Given the description of an element on the screen output the (x, y) to click on. 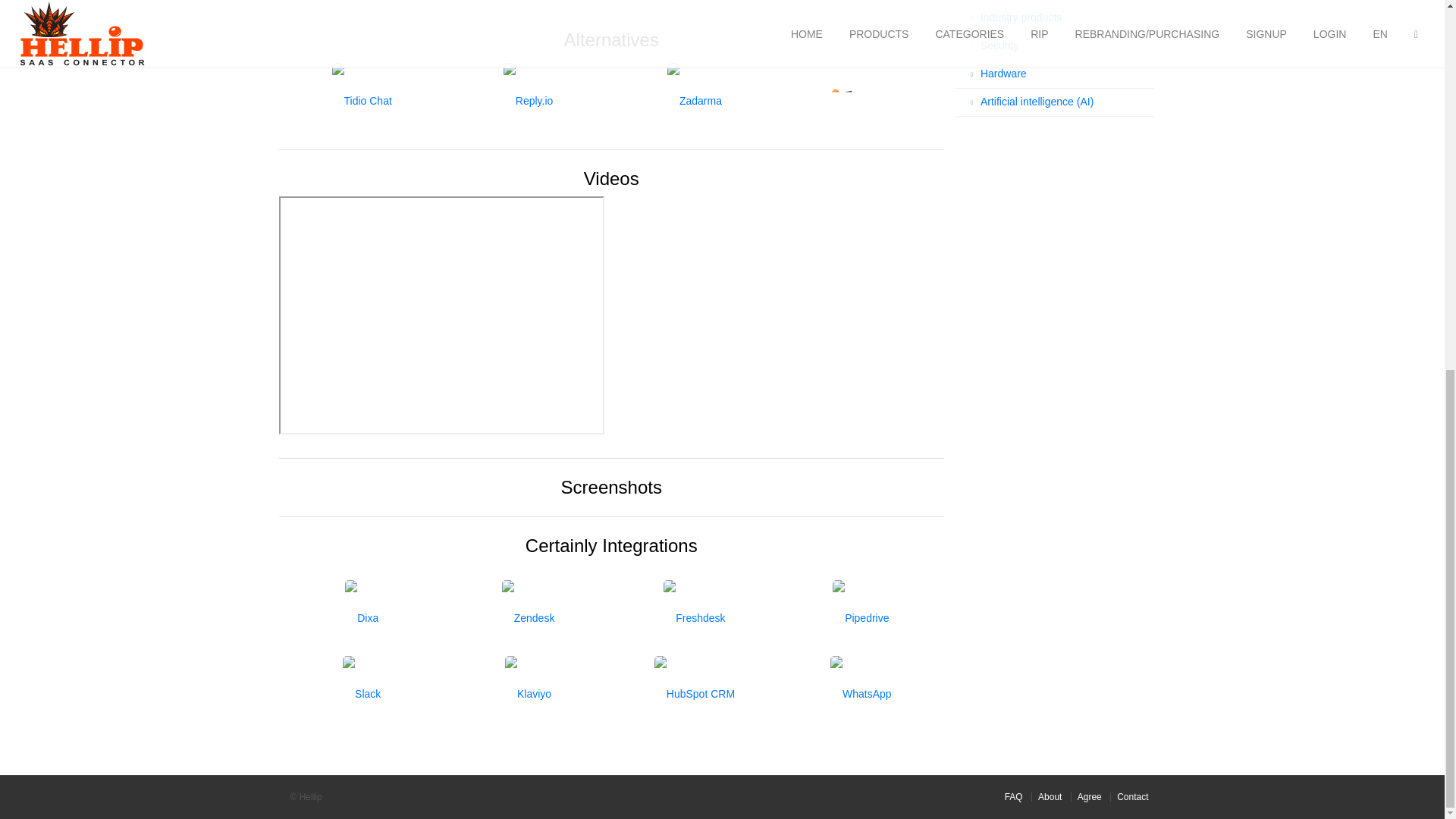
Tidio Chat is. About, connectores, integrations (360, 100)
Klaviyo is. About, connectores, integrations (528, 693)
1CRM is. About, connectores, integrations (861, 100)
Reply.io is. About, connectores, integrations (528, 100)
Zendesk is. About, connectores, integrations (528, 617)
Pipedrive is. About, connectores, integrations (861, 617)
Dixa is. About, connectores, integrations (360, 617)
HubSpot CRM is. About, connectores, integrations (694, 693)
Freshdesk is. About, connectores, integrations (694, 617)
WhatsApp is. About, connectores, integrations (861, 693)
